Given the description of an element on the screen output the (x, y) to click on. 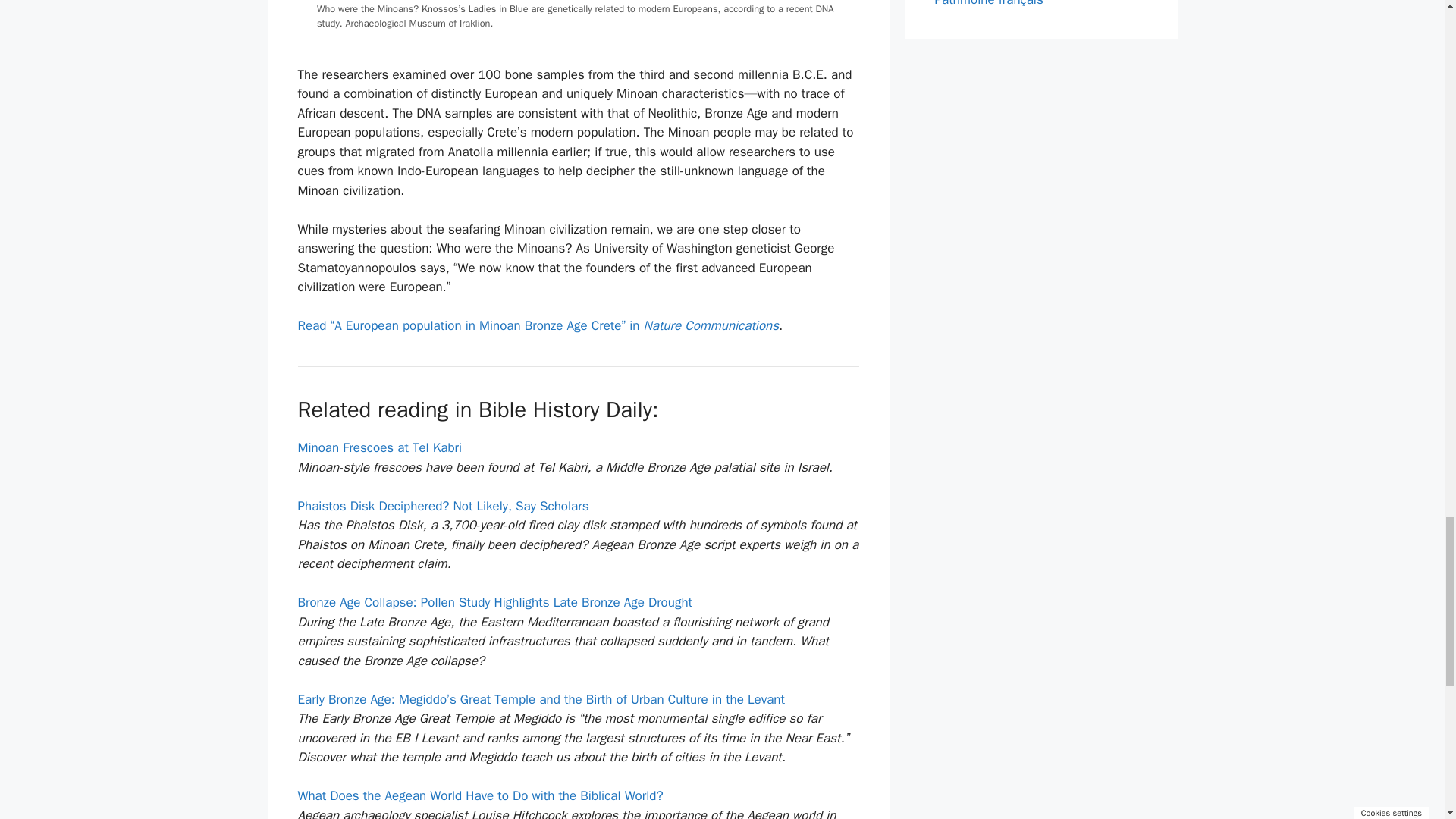
Minoan Frescoes at Tel Kabri (379, 447)
Phaistos Disk Deciphered? Not Likely, Say Scholars (442, 505)
